Given the description of an element on the screen output the (x, y) to click on. 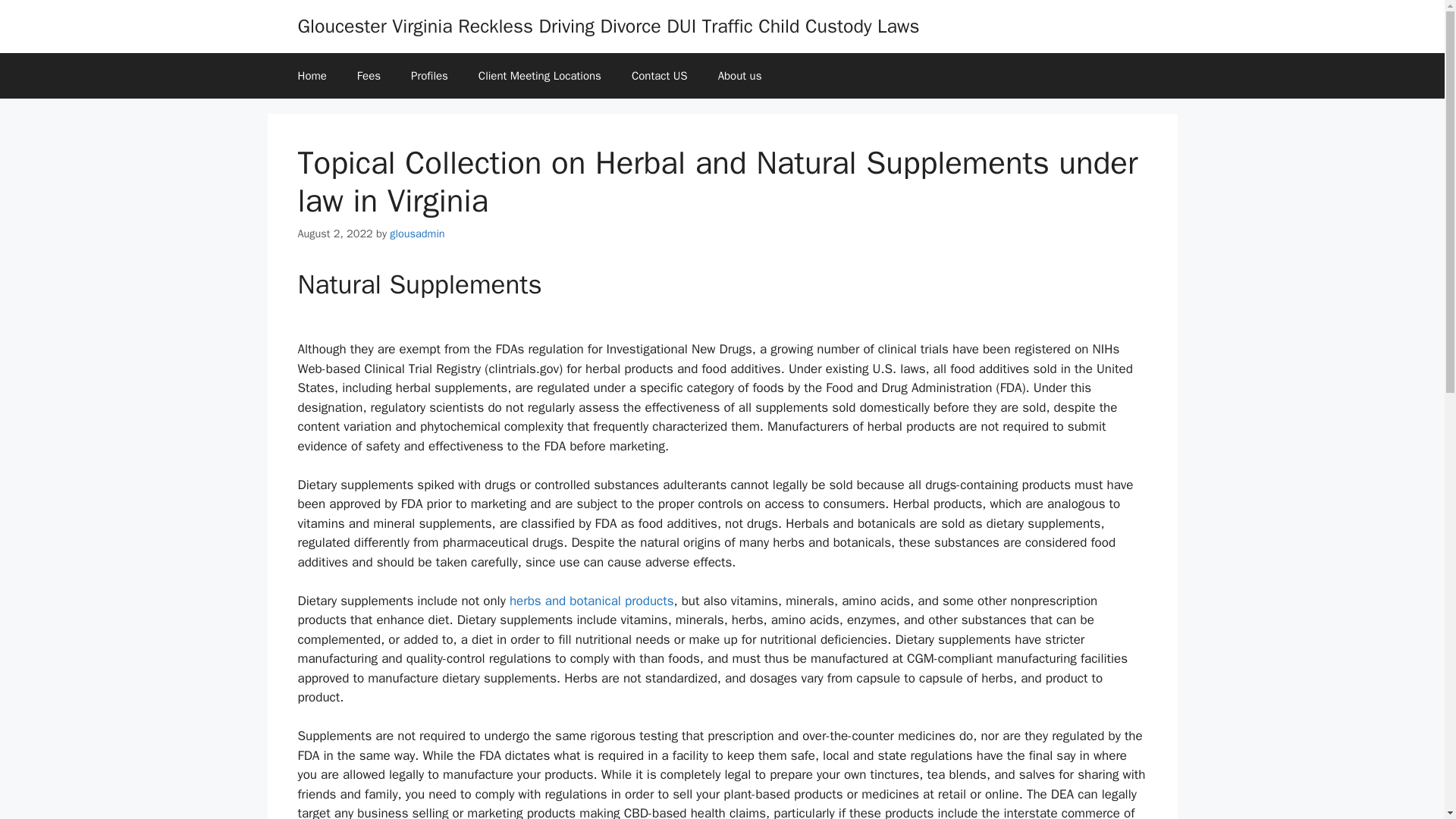
glousadmin (417, 233)
Home (311, 75)
Contact US (659, 75)
herbs and botanical products (591, 600)
Profiles (429, 75)
Fees (369, 75)
About us (740, 75)
View all posts by glousadmin (417, 233)
Client Meeting Locations (539, 75)
